Given the description of an element on the screen output the (x, y) to click on. 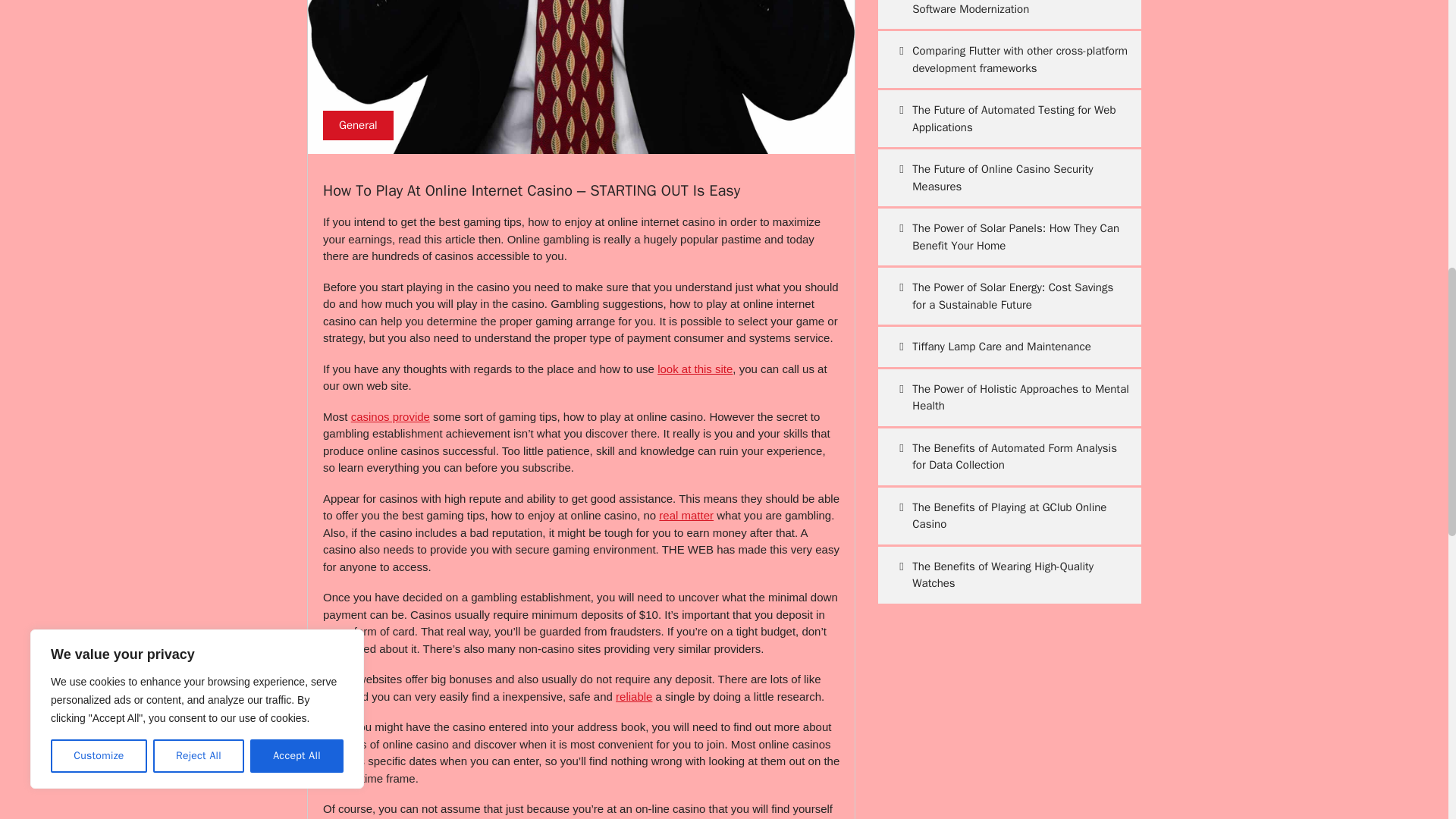
General (358, 125)
reliable (633, 696)
casinos provide (389, 416)
look at this site (695, 368)
real matter (686, 514)
